Given the description of an element on the screen output the (x, y) to click on. 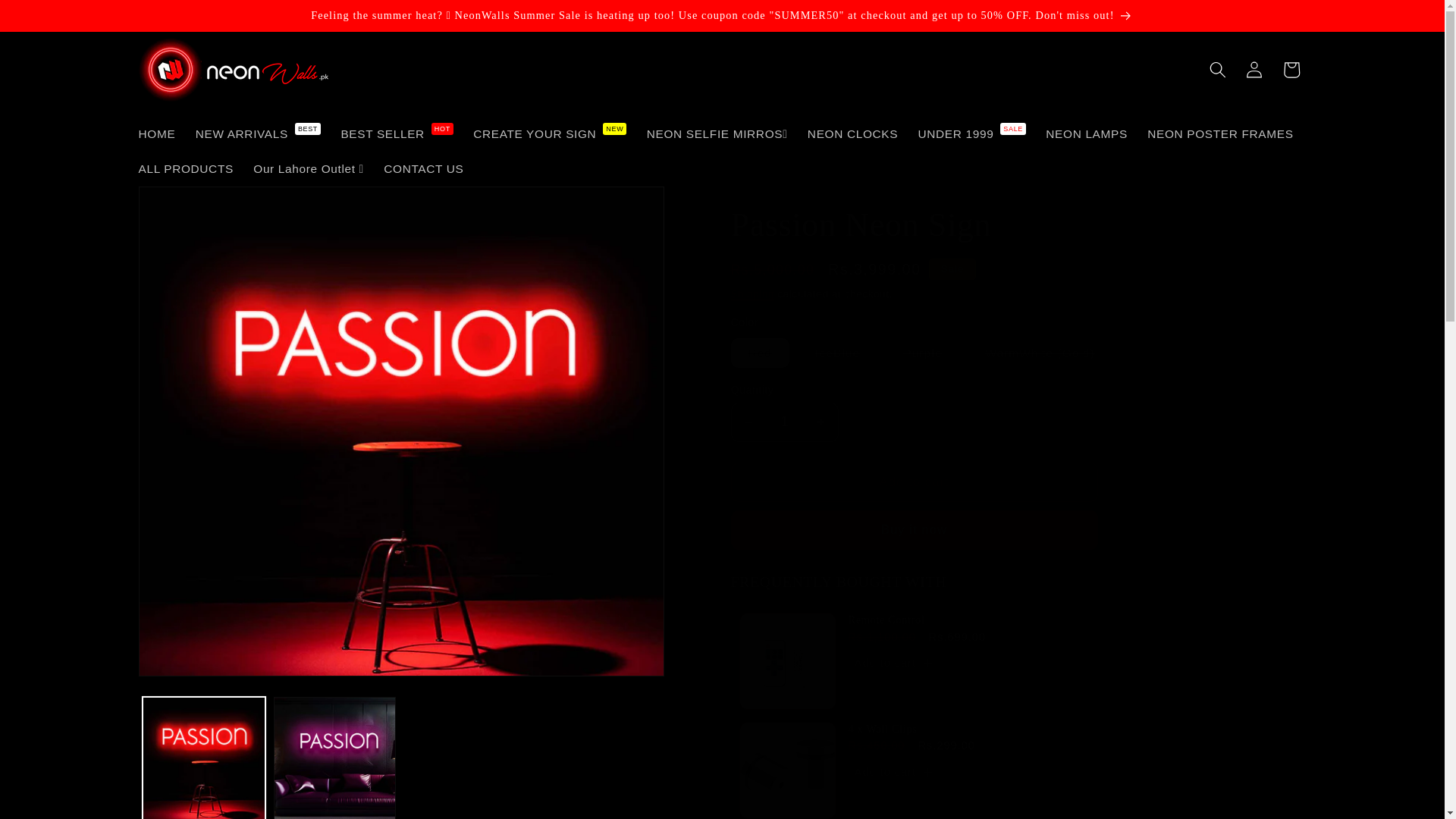
NEW ARRIVALS BEST (257, 134)
Skip to content (50, 19)
Log in (1254, 69)
CONTACT US (424, 168)
NEON POSTER FRAMES (1220, 134)
UNDER 1999 SALE (971, 134)
1 (784, 422)
NEON LAMPS (1086, 134)
BEST SELLER HOT (396, 134)
CREATE YOUR SIGN NEW (550, 134)
NEON CLOCKS (852, 134)
ALL PRODUCTS (185, 168)
